Given the description of an element on the screen output the (x, y) to click on. 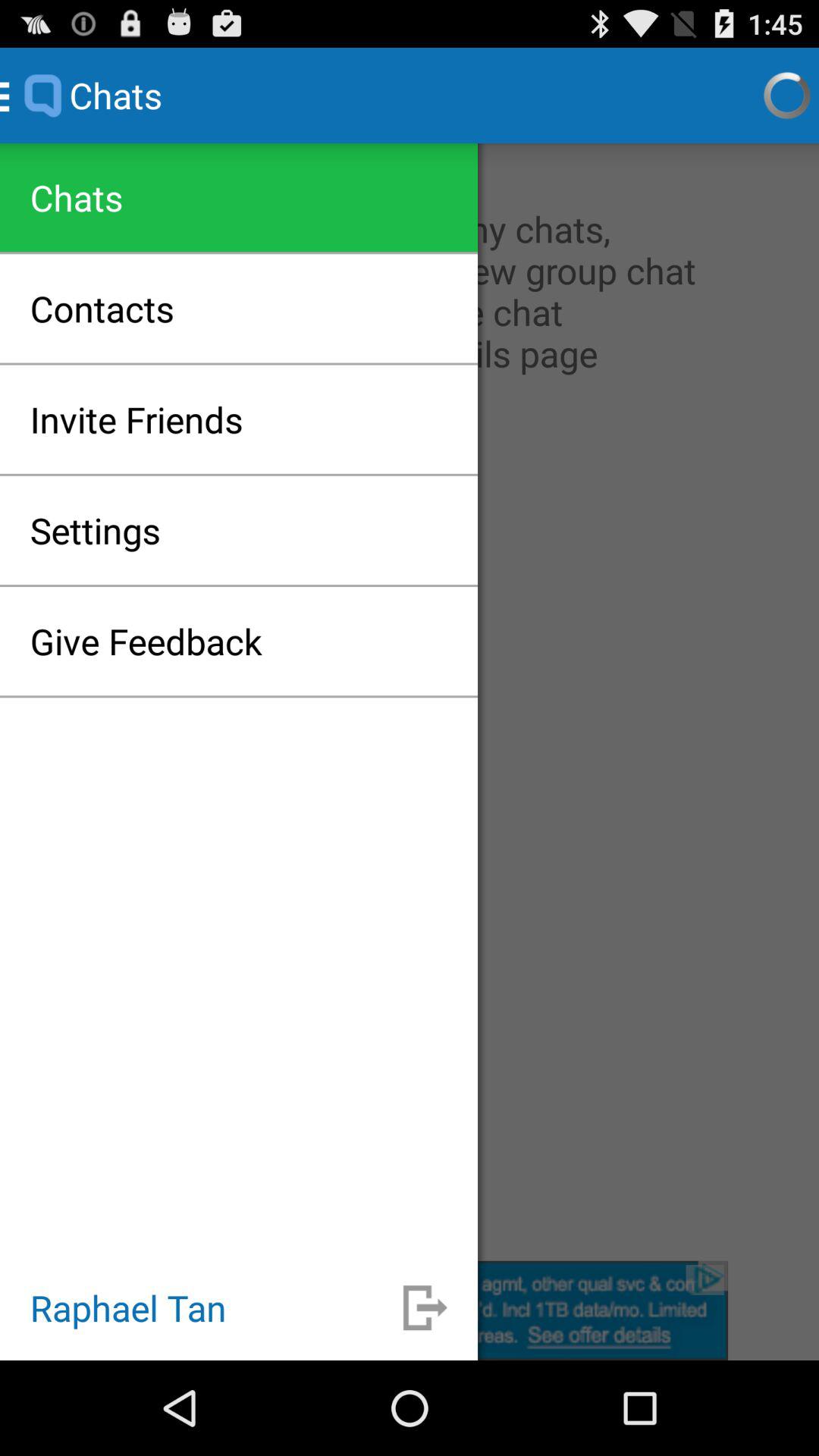
press the item to the right of raphael tan icon (425, 1307)
